Given the description of an element on the screen output the (x, y) to click on. 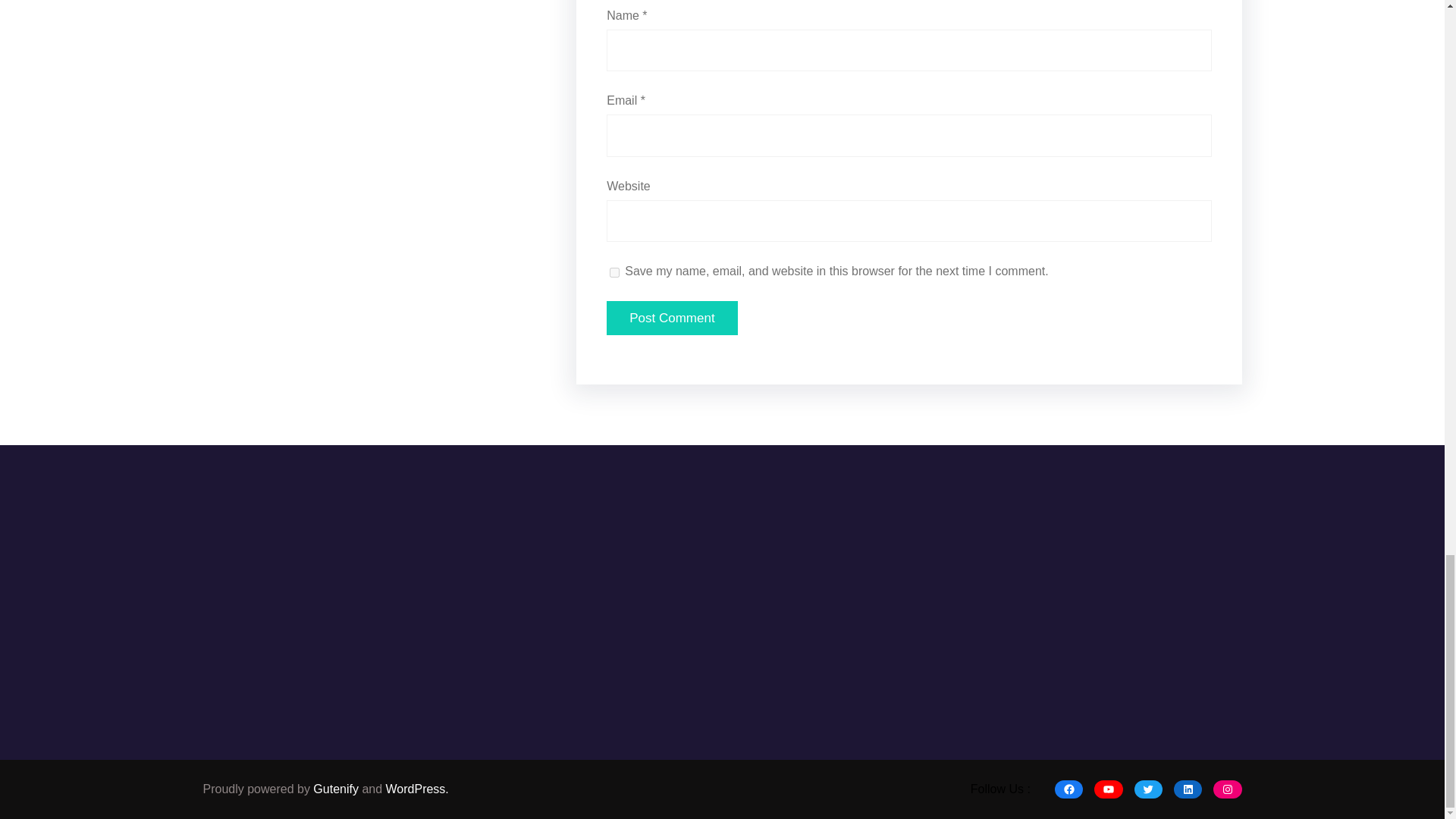
Post Comment (671, 318)
yes (615, 272)
